Given the description of an element on the screen output the (x, y) to click on. 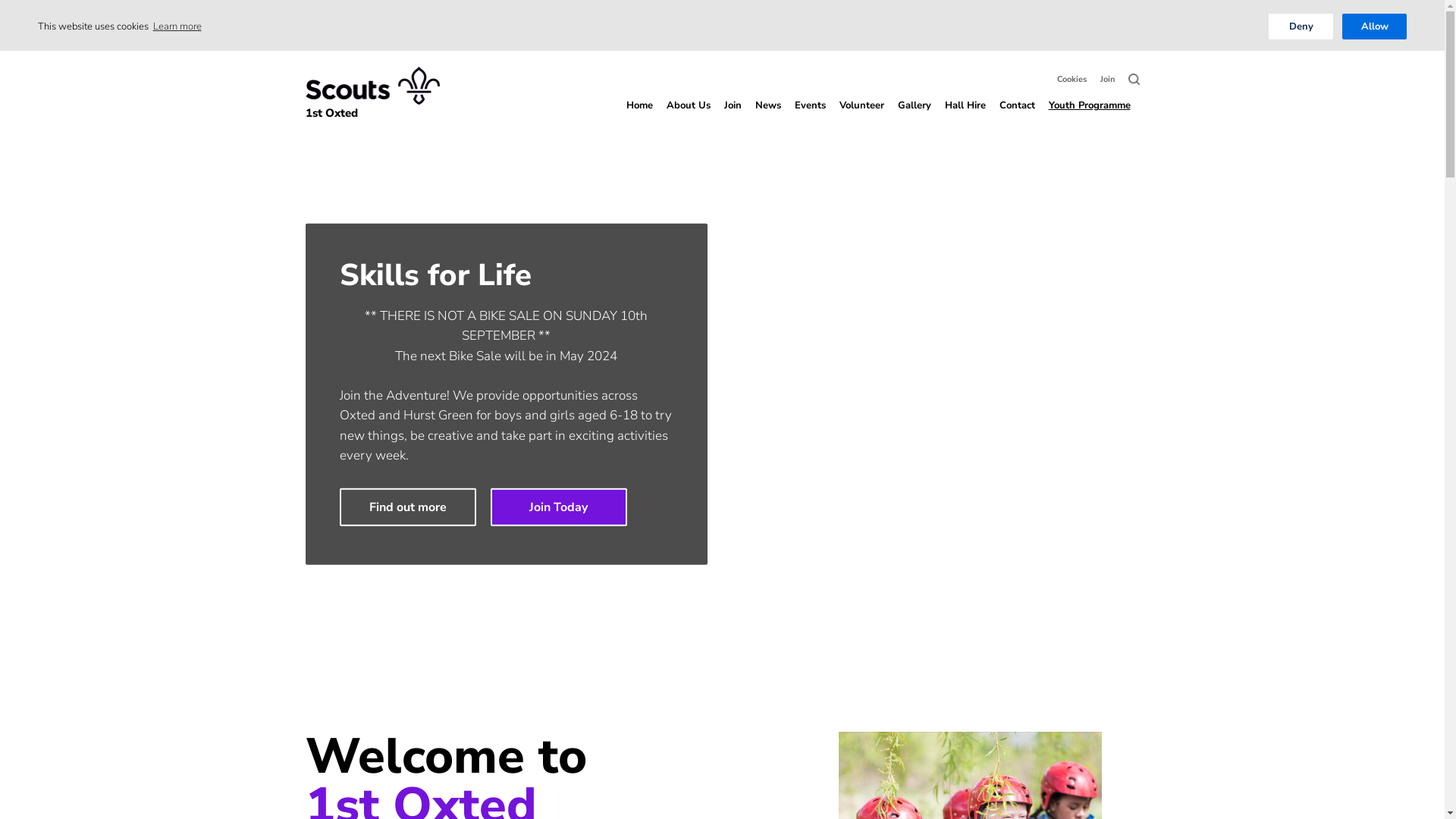
Hall Hire Element type: text (964, 105)
Learn more Element type: text (176, 26)
News Element type: text (768, 105)
Events Element type: text (809, 105)
Volunteer Element type: text (860, 105)
Join Element type: text (731, 118)
1st Oxted Element type: text (371, 93)
About Us Element type: text (687, 118)
Join Today Element type: text (557, 507)
Deny Element type: text (1300, 26)
Cookies Element type: text (1071, 79)
Find out more Element type: text (407, 507)
Gallery Element type: text (914, 105)
Home Element type: text (639, 105)
Contact Element type: text (1017, 105)
Allow Element type: text (1374, 26)
Join Element type: text (1106, 79)
Youth Programme Element type: text (1093, 118)
